Given the description of an element on the screen output the (x, y) to click on. 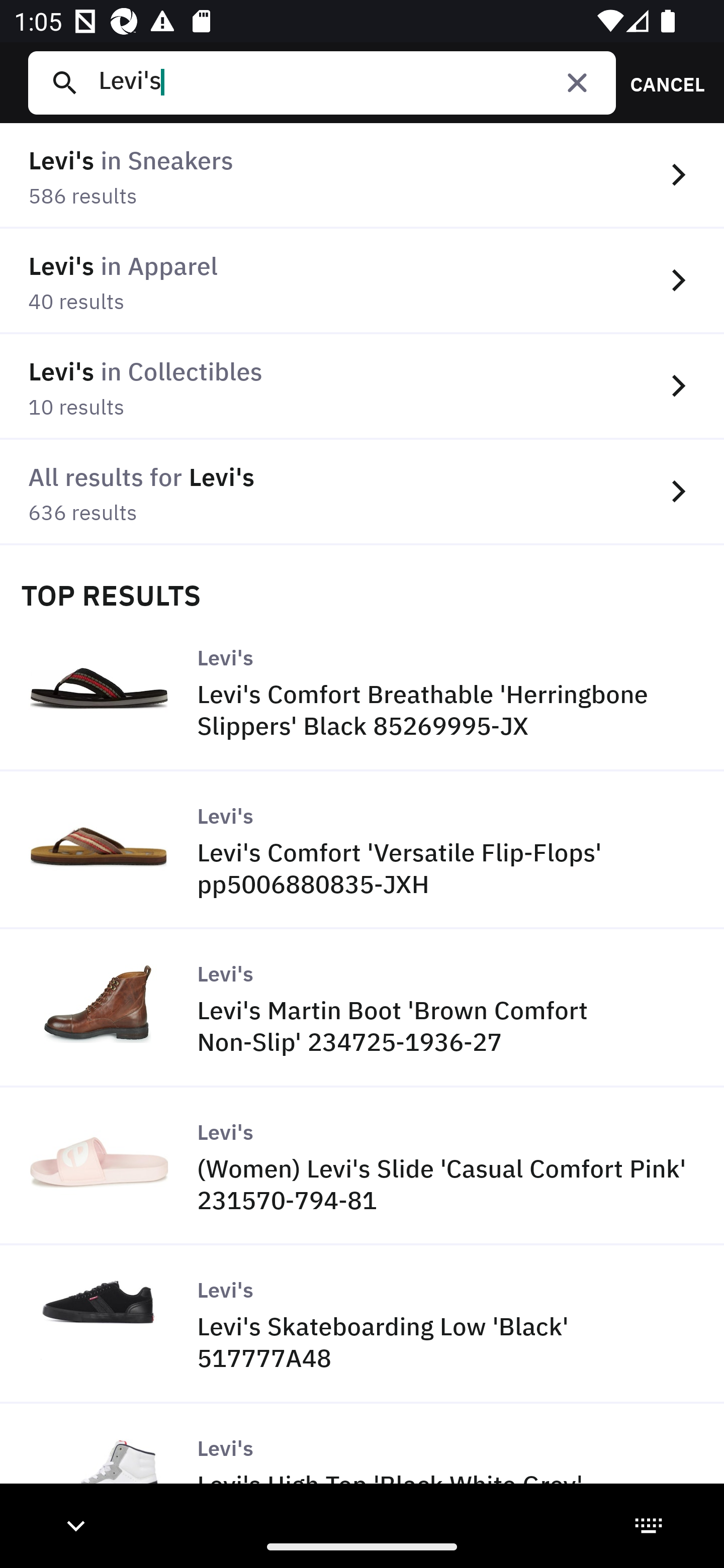
CANCEL (660, 82)
Levi's (349, 82)
 (577, 82)
Levi's  in Sneakers 586 results  (362, 175)
Levi's  in Apparel 40 results  (362, 280)
Levi's  in Collectibles 10 results  (362, 386)
All results for  Levi's 636 results  (362, 492)
Levi's Levi's Skateboarding Low 'Black' 517777A48 (362, 1323)
